Given the description of an element on the screen output the (x, y) to click on. 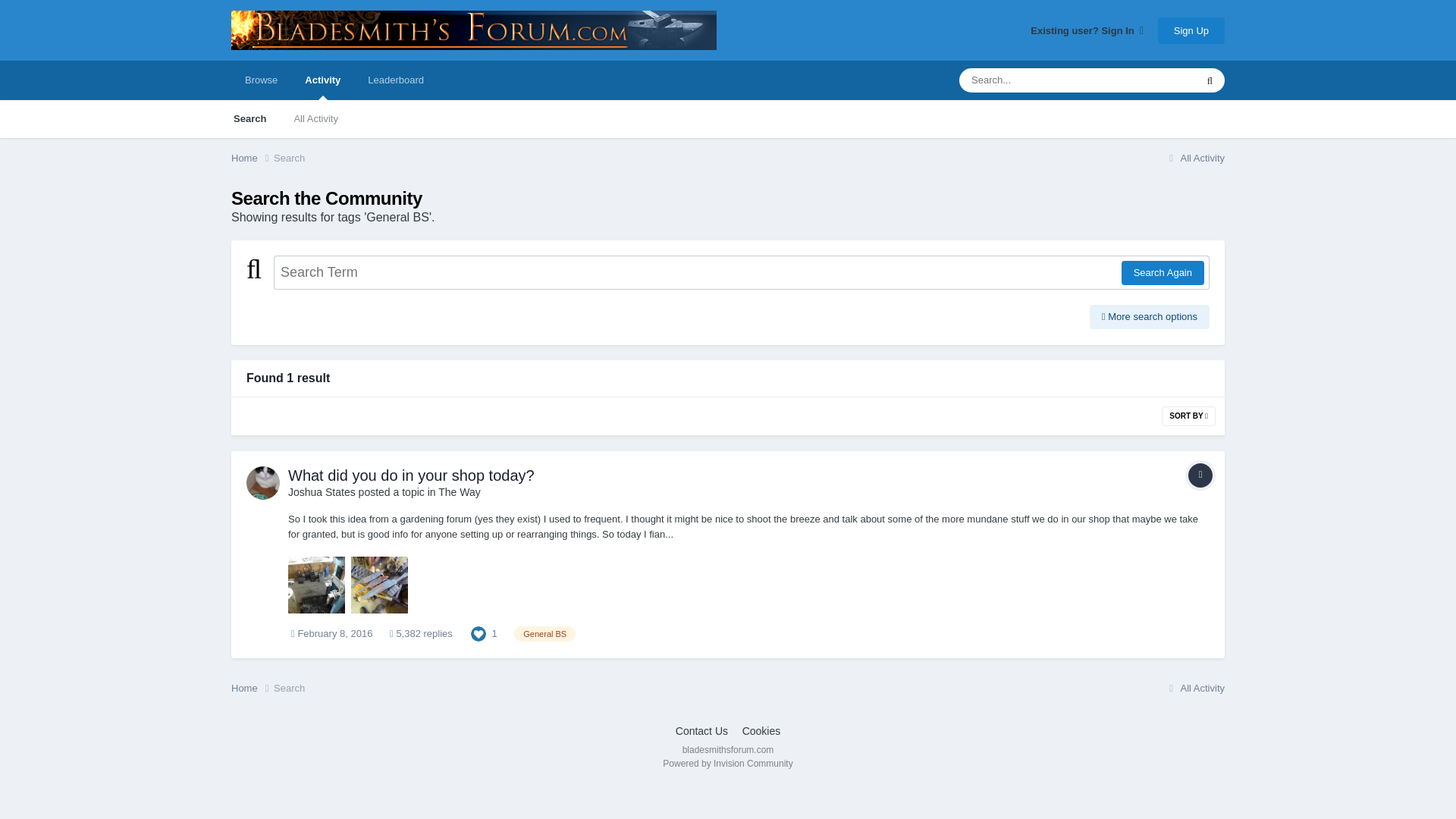
Search (249, 118)
Existing user? Sign In   (1086, 30)
Leaderboard (395, 79)
Home (252, 158)
Find other content tagged with 'General BS' (544, 633)
All Activity (315, 118)
Go to Joshua States's profile (321, 491)
Search Again (1162, 273)
Activity (322, 79)
More search options (1149, 316)
Go to Joshua States's profile (262, 482)
Home (252, 158)
Invision Community (727, 763)
Sign Up (1190, 29)
Topic (1200, 475)
